Given the description of an element on the screen output the (x, y) to click on. 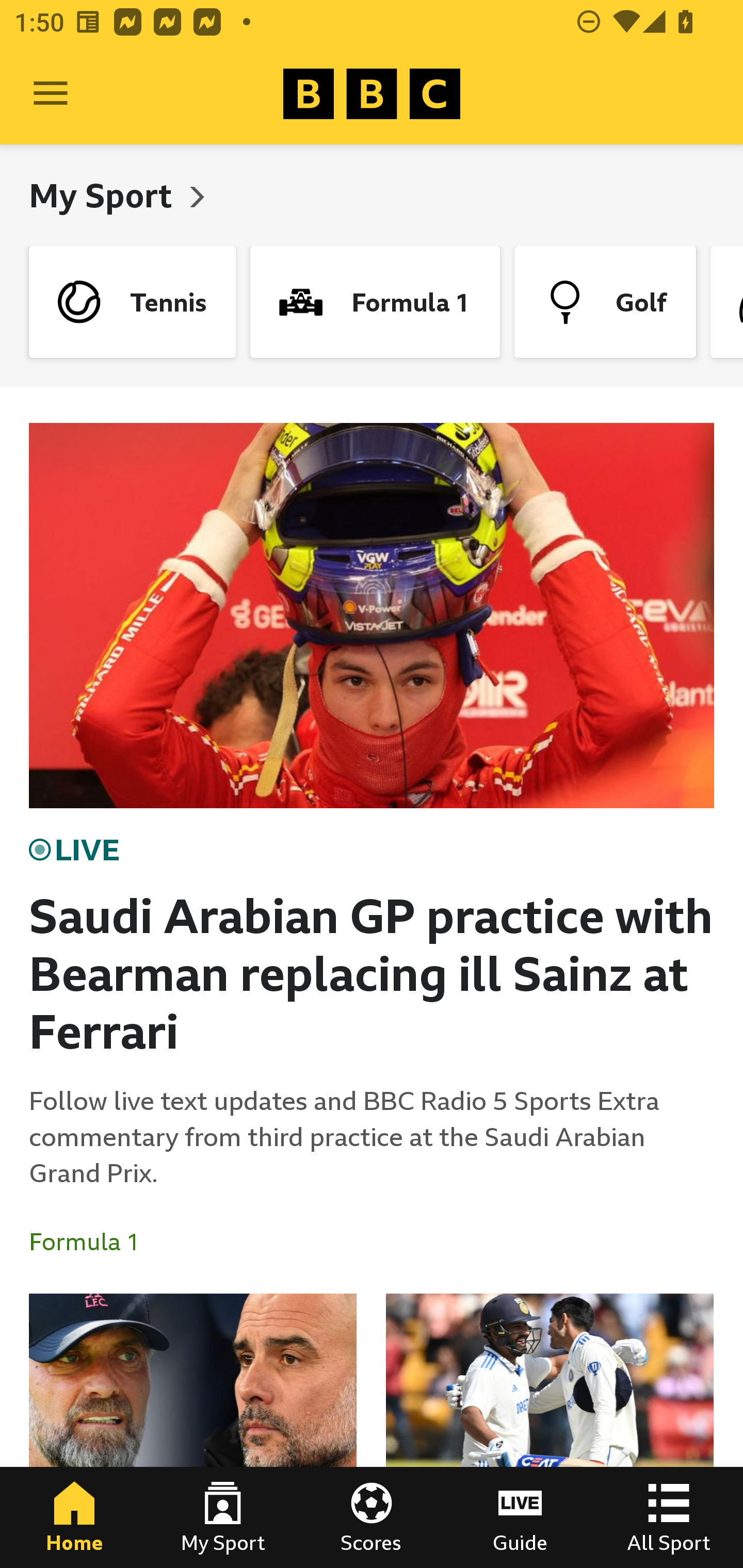
Open Menu (50, 93)
My Sport (104, 195)
Formula 1 In the section Formula 1 (91, 1241)
India build big lead despite Stokes' return wicket (549, 1430)
My Sport (222, 1517)
Scores (371, 1517)
Guide (519, 1517)
All Sport (668, 1517)
